Given the description of an element on the screen output the (x, y) to click on. 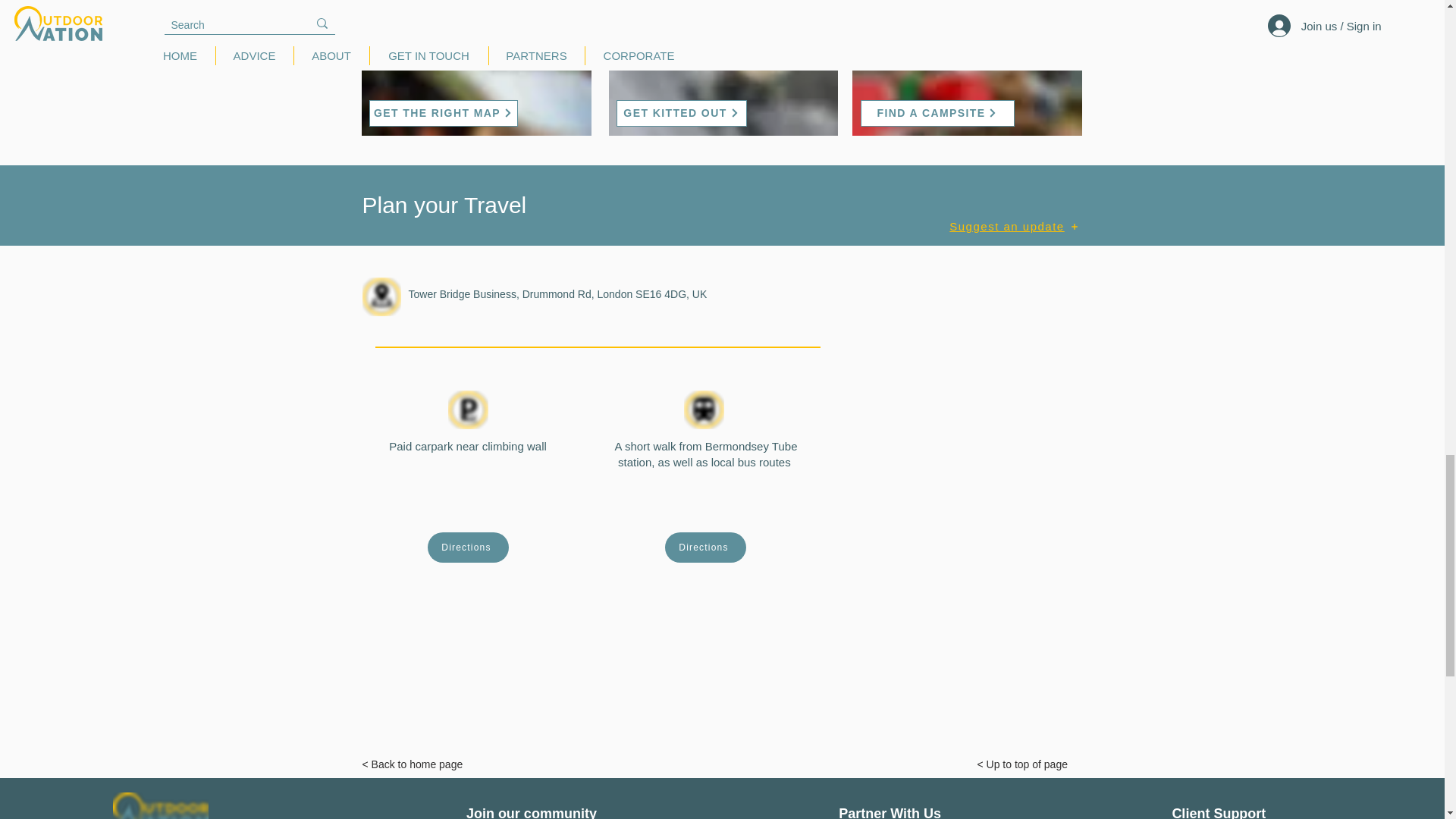
Ordnance Survey (550, 19)
Climbing kit - Go Outdoors.jpg (722, 67)
Easily accessible by public transport. (703, 409)
Address (381, 296)
The Met Offce (1040, 19)
Go Outdoors (799, 19)
Paid parking (466, 409)
GET THE RIGHT MAP (442, 112)
